Given the description of an element on the screen output the (x, y) to click on. 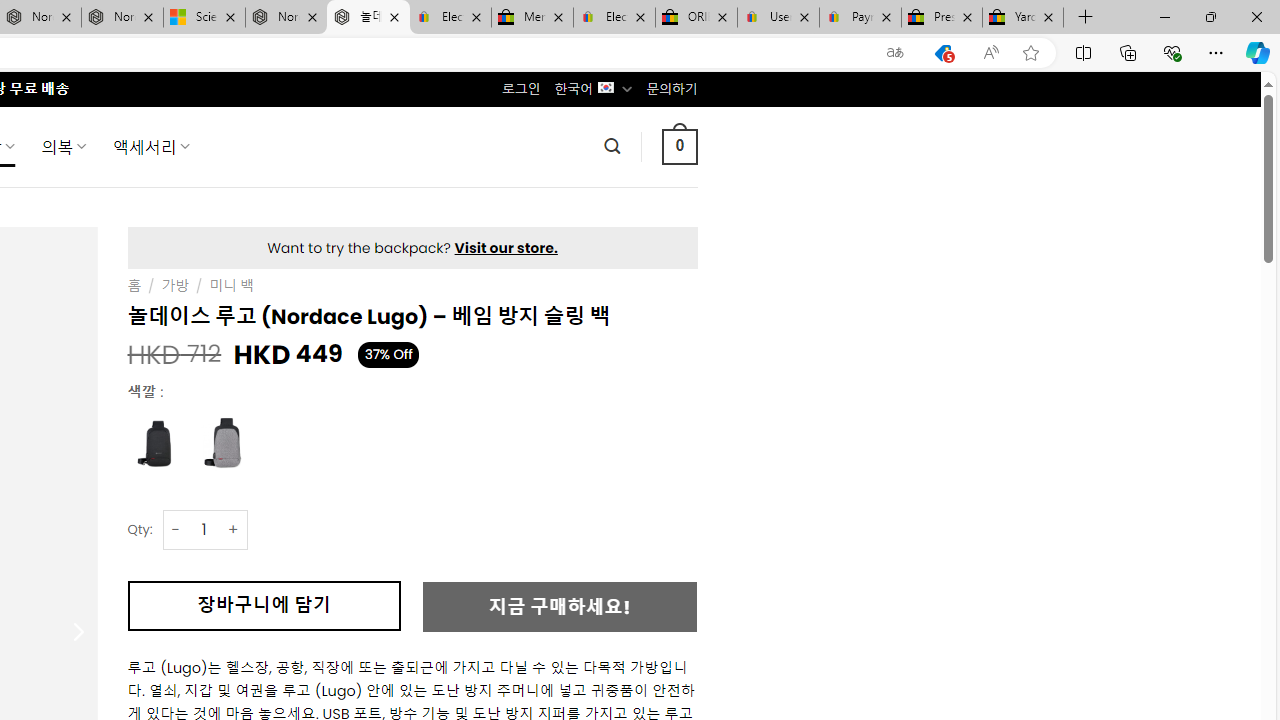
- (175, 529)
  0   (679, 146)
